Given the description of an element on the screen output the (x, y) to click on. 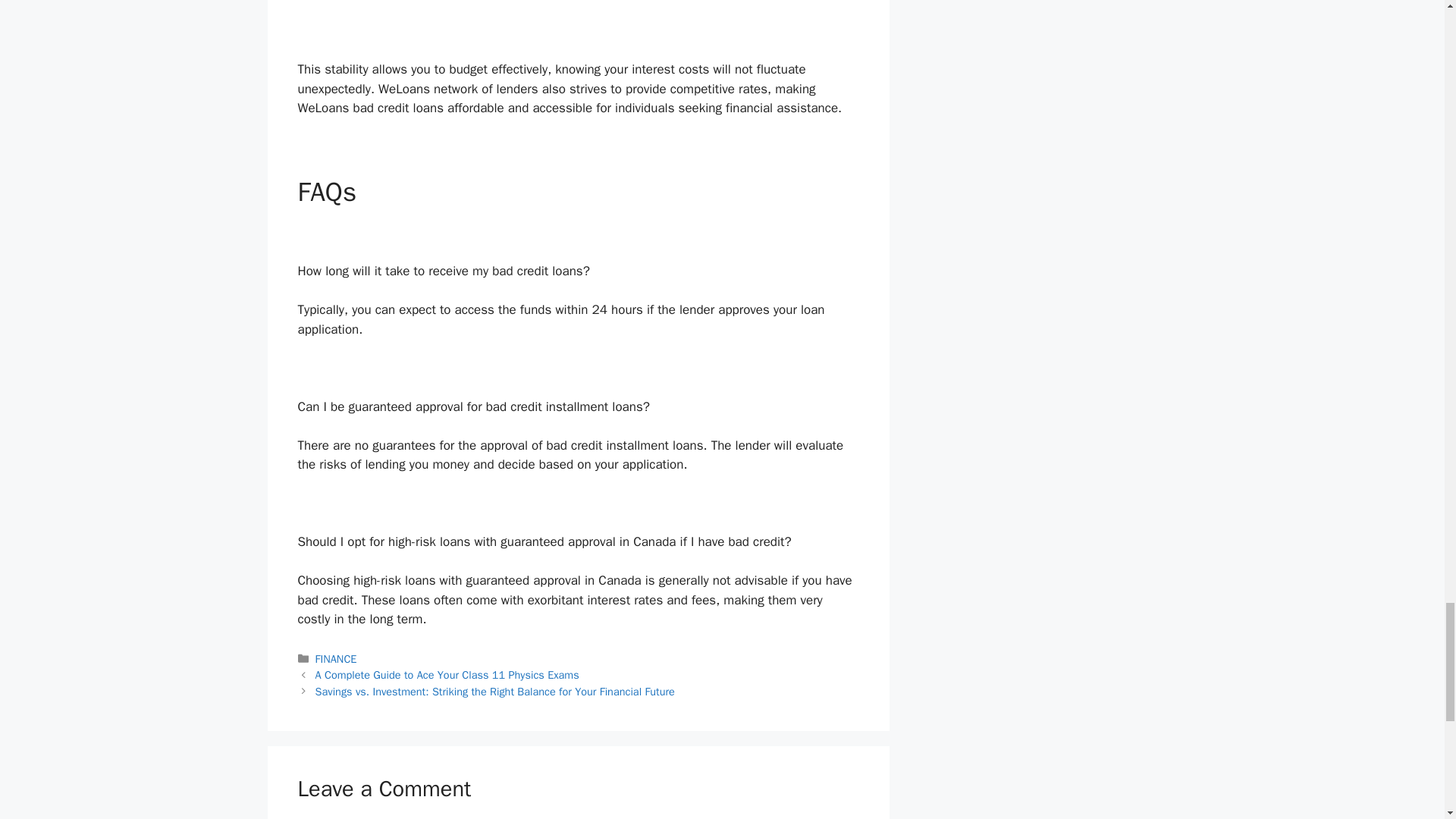
A Complete Guide to Ace Your Class 11 Physics Exams (447, 674)
FINANCE (335, 658)
